Given the description of an element on the screen output the (x, y) to click on. 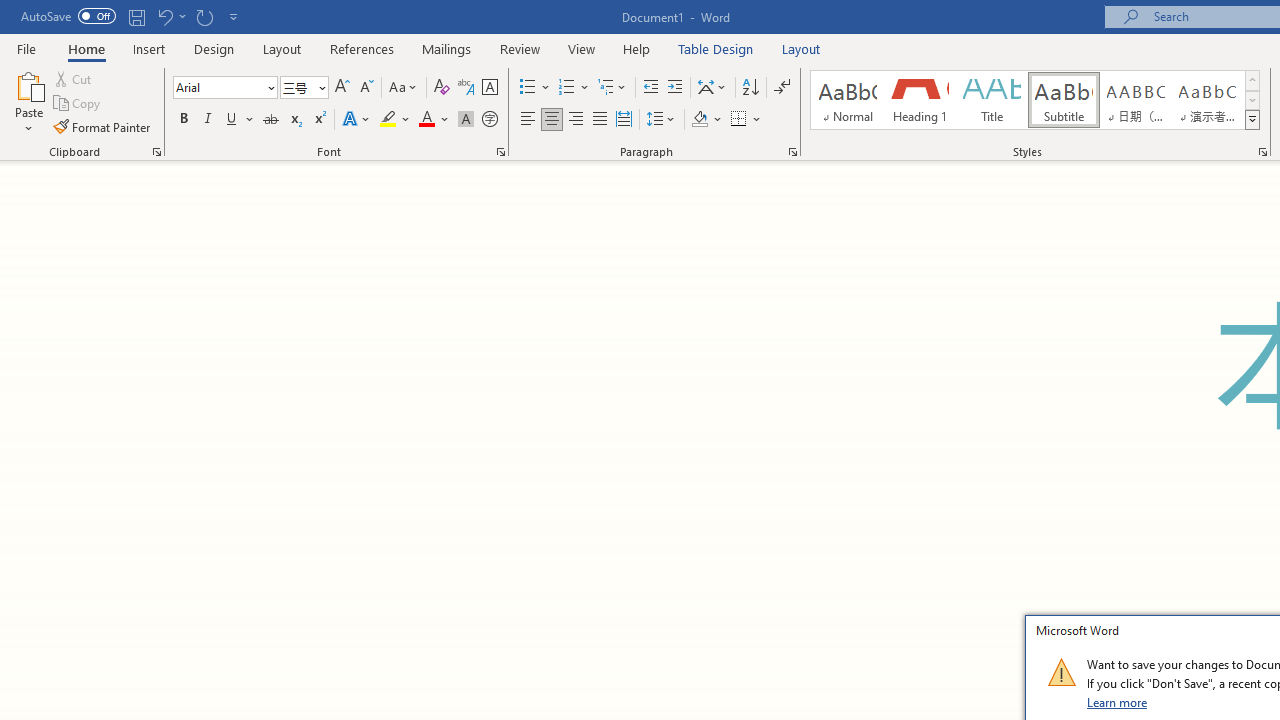
Font Size (297, 87)
Subscript (294, 119)
Font... (500, 151)
Shrink Font (365, 87)
AutoSave (68, 16)
Text Highlight Color Yellow (388, 119)
Strikethrough (270, 119)
Font Color Red (426, 119)
Decrease Indent (650, 87)
Font (224, 87)
Paste (28, 84)
View (582, 48)
Borders (739, 119)
